Given the description of an element on the screen output the (x, y) to click on. 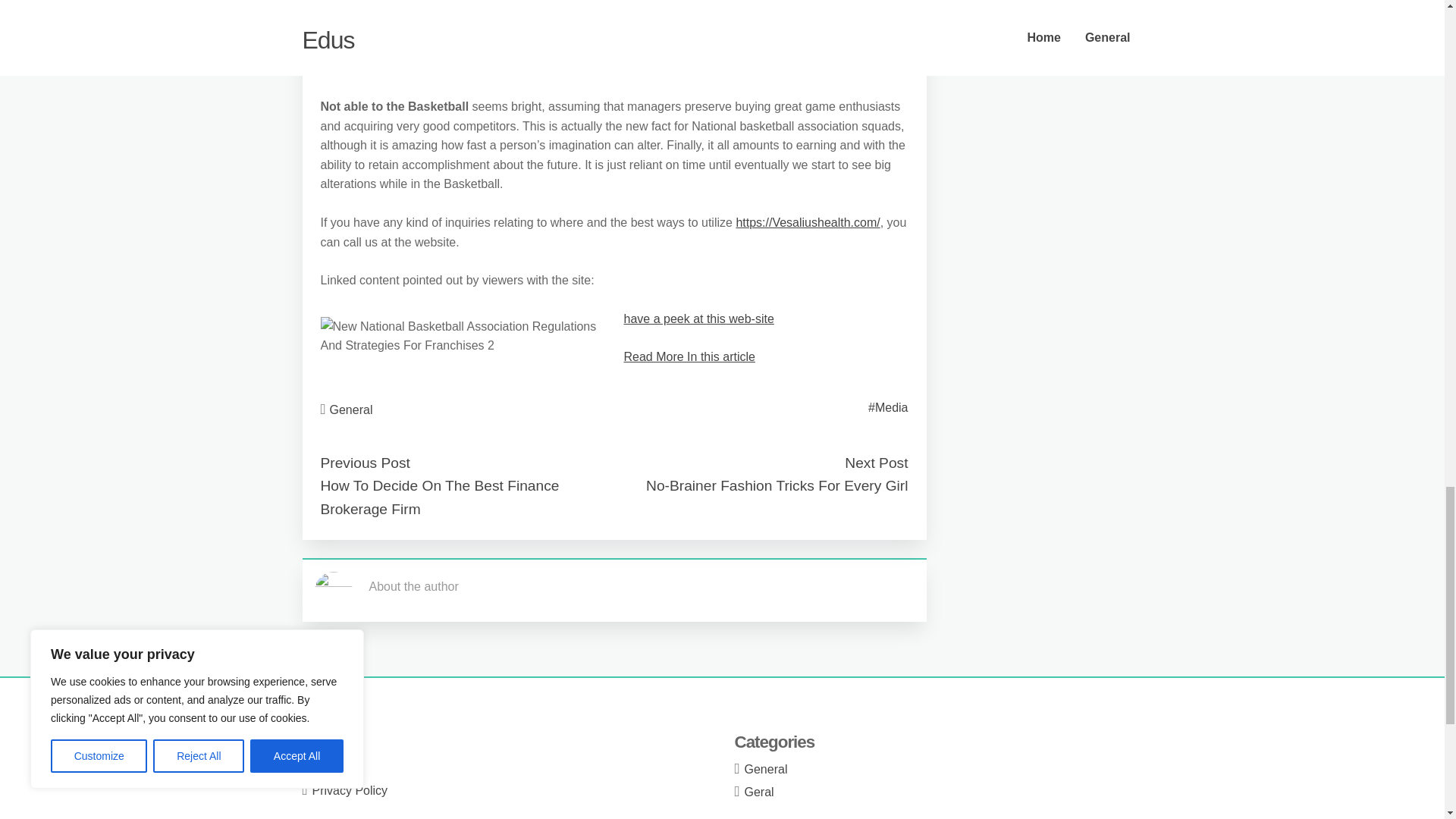
Read More In this article (688, 356)
How To Decide On The Best Finance Brokerage Firm (439, 496)
General (351, 409)
Next Post (875, 462)
Previous Post (364, 462)
have a peek at this web-site (698, 318)
No-Brainer Fashion Tricks For Every Girl (776, 485)
